Given the description of an element on the screen output the (x, y) to click on. 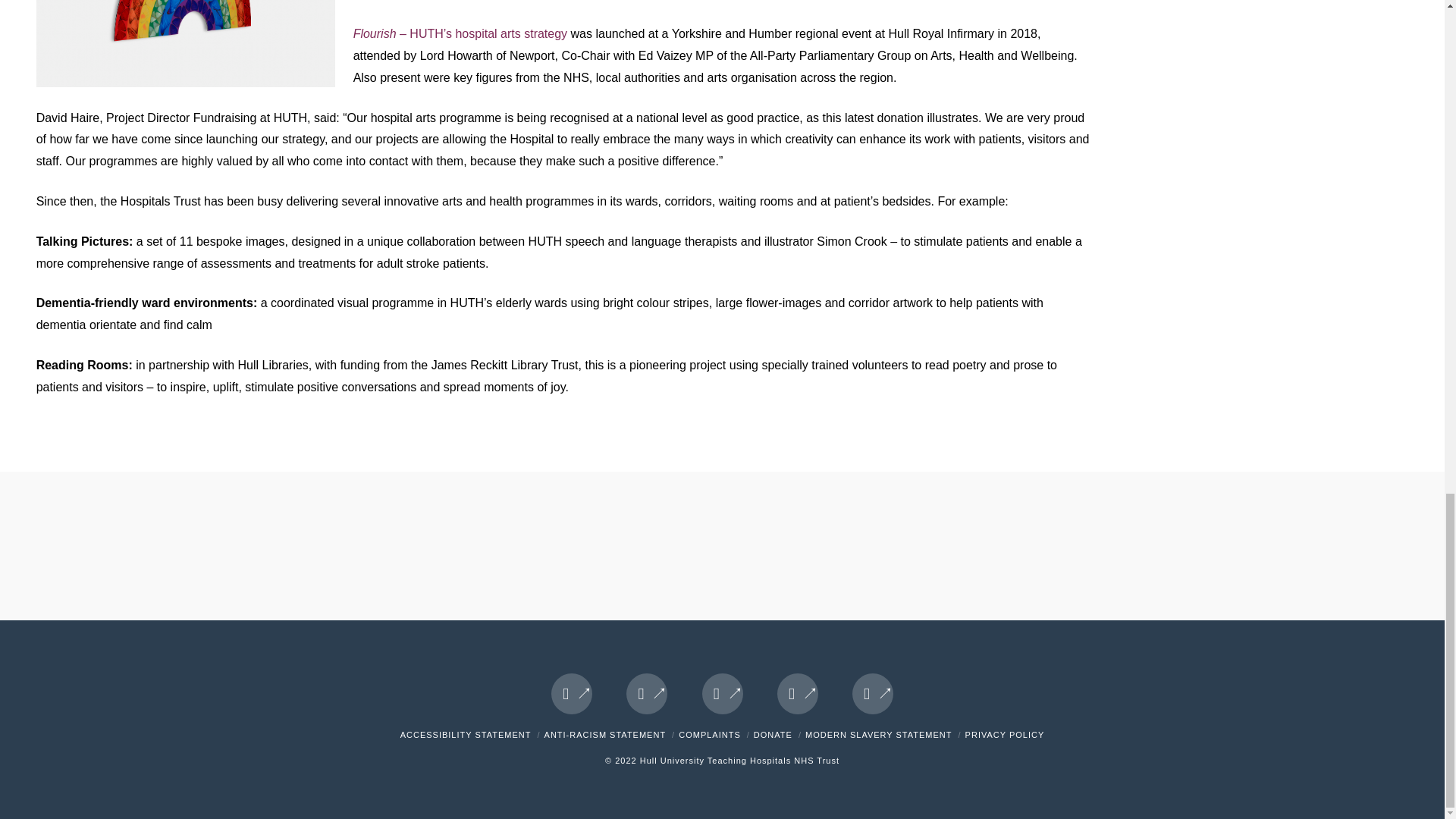
Instagram (872, 693)
YouTube (797, 693)
Facebook (571, 693)
LinkedIn (721, 693)
